Given the description of an element on the screen output the (x, y) to click on. 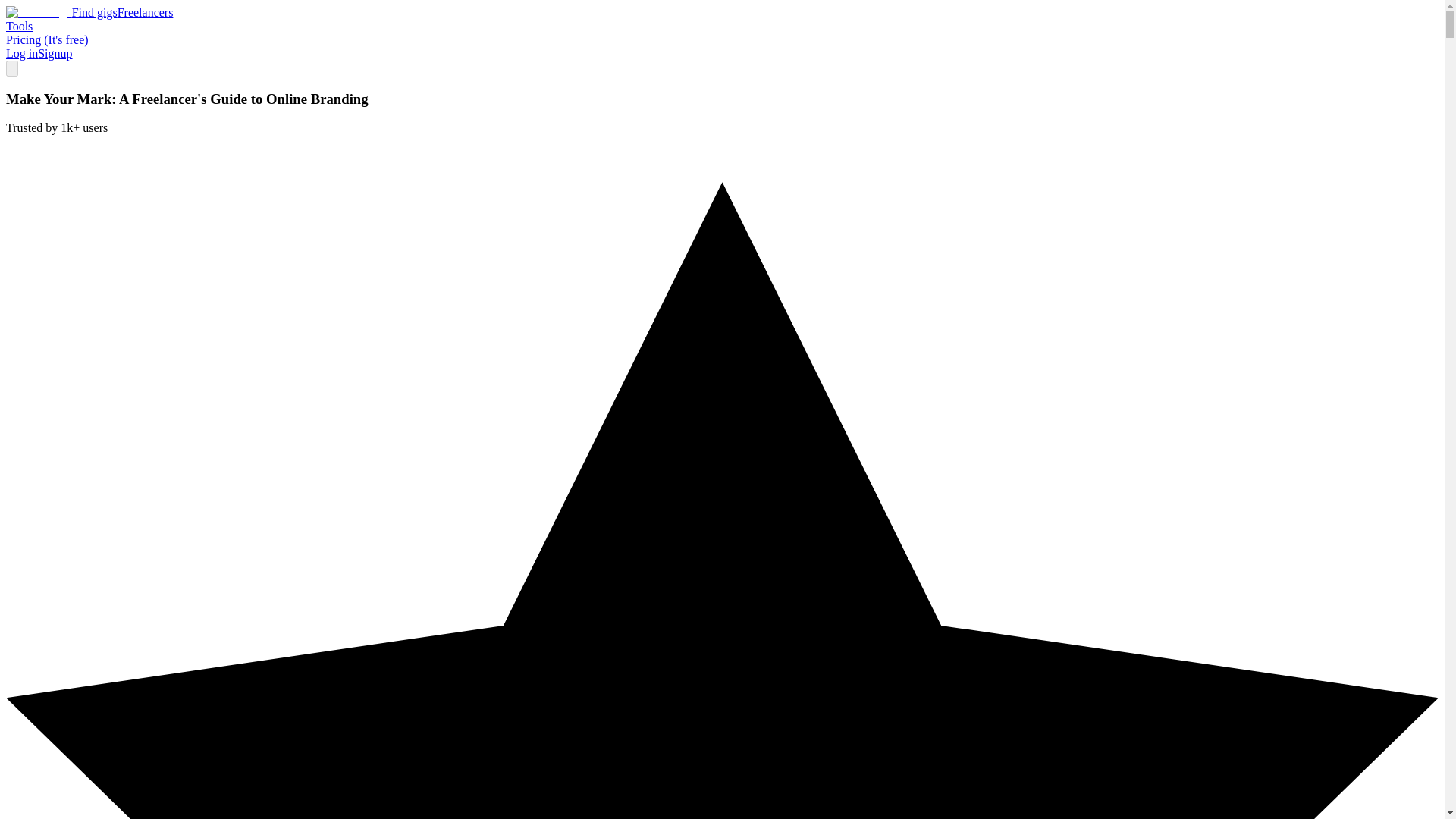
Find gigs (94, 11)
Tools (18, 25)
Signup (54, 52)
Log in (21, 52)
Freelancers (145, 11)
